Given the description of an element on the screen output the (x, y) to click on. 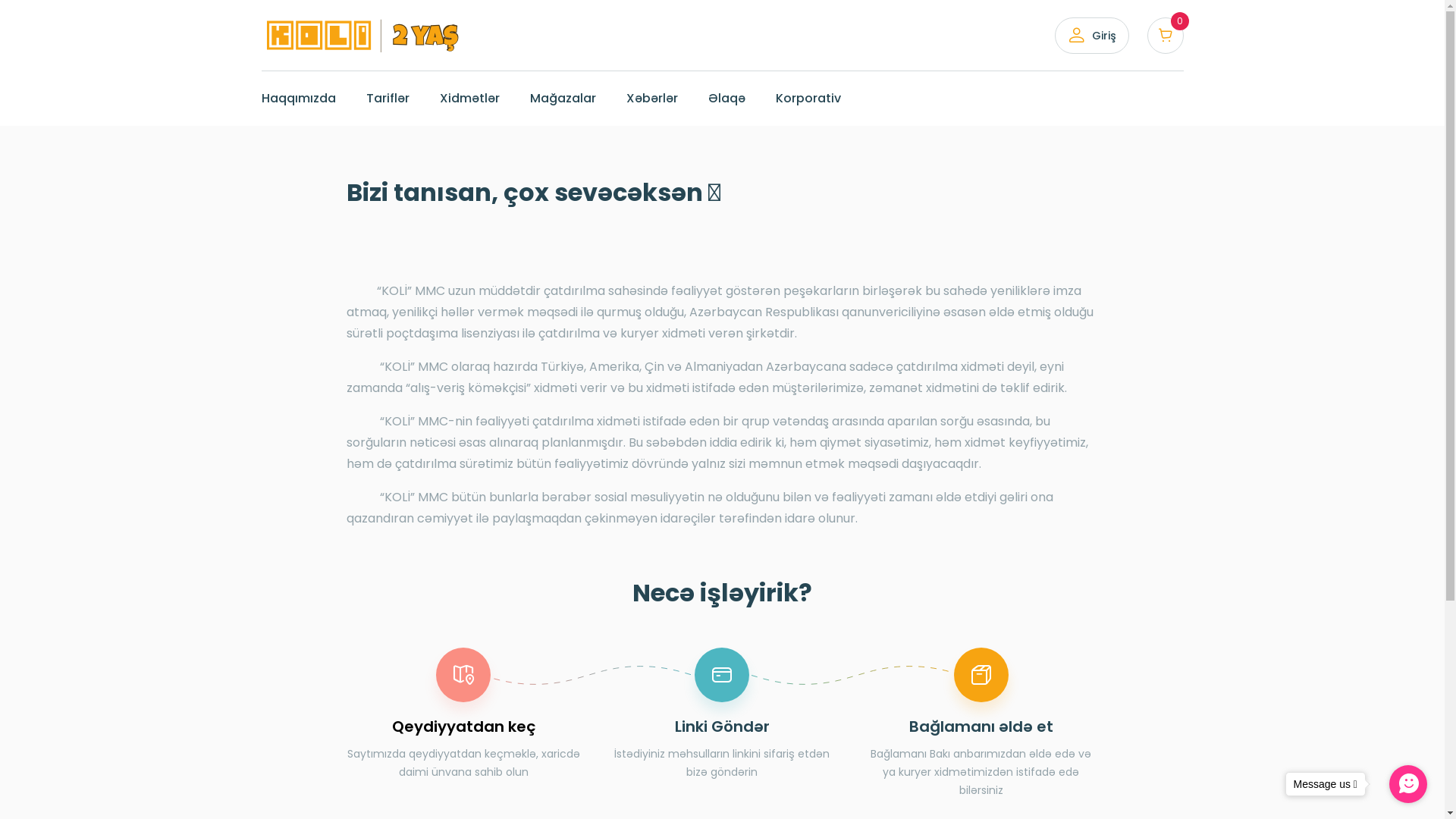
0 Element type: text (1164, 35)
Korporativ Element type: text (807, 98)
